Given the description of an element on the screen output the (x, y) to click on. 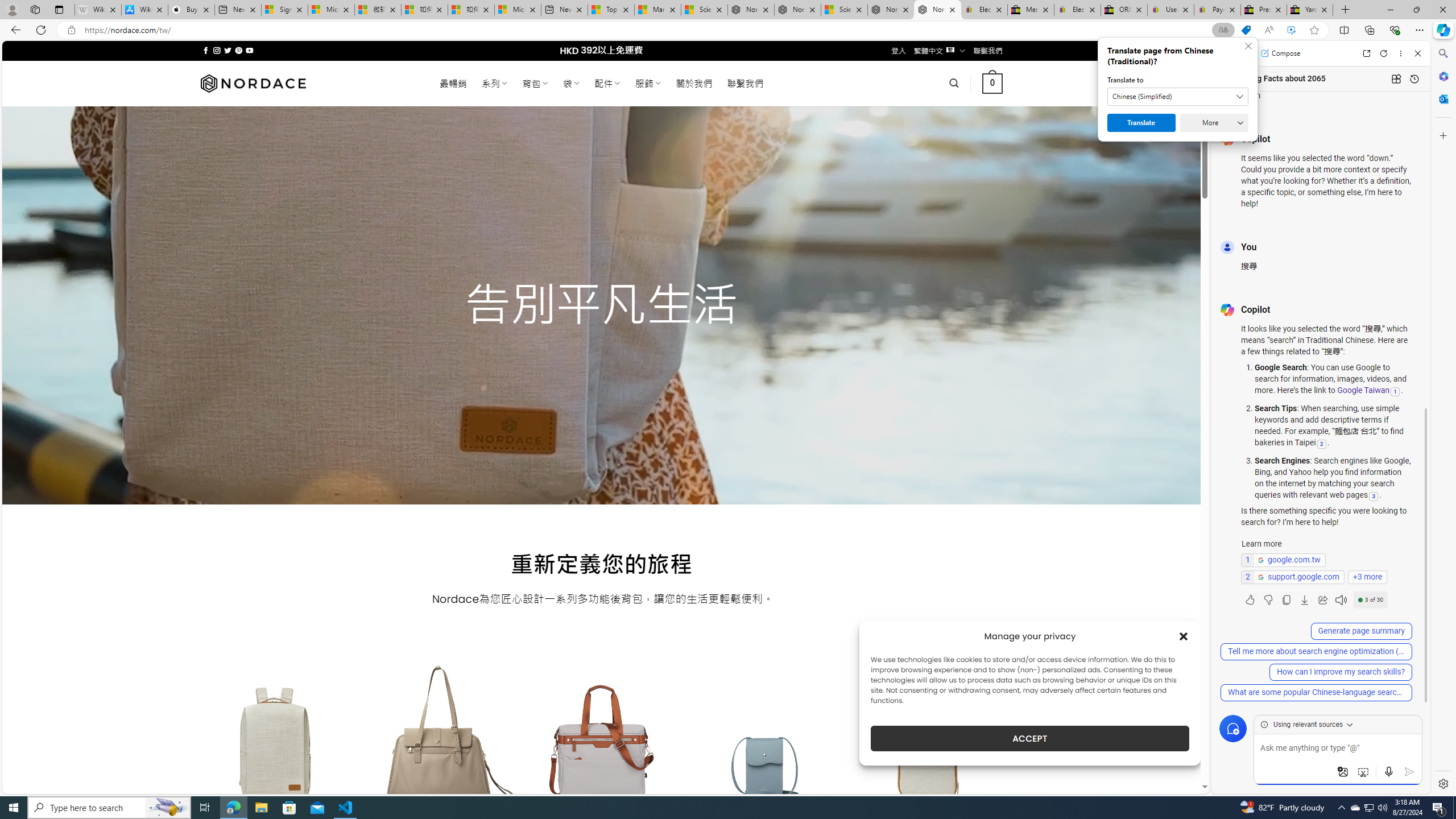
Enhance video (1291, 29)
Microsoft account | Account Checkup (517, 9)
 0  (992, 83)
Chat (1231, 52)
Marine life - MSN (656, 9)
This site has coupons! Shopping in Microsoft Edge (1245, 29)
